Given the description of an element on the screen output the (x, y) to click on. 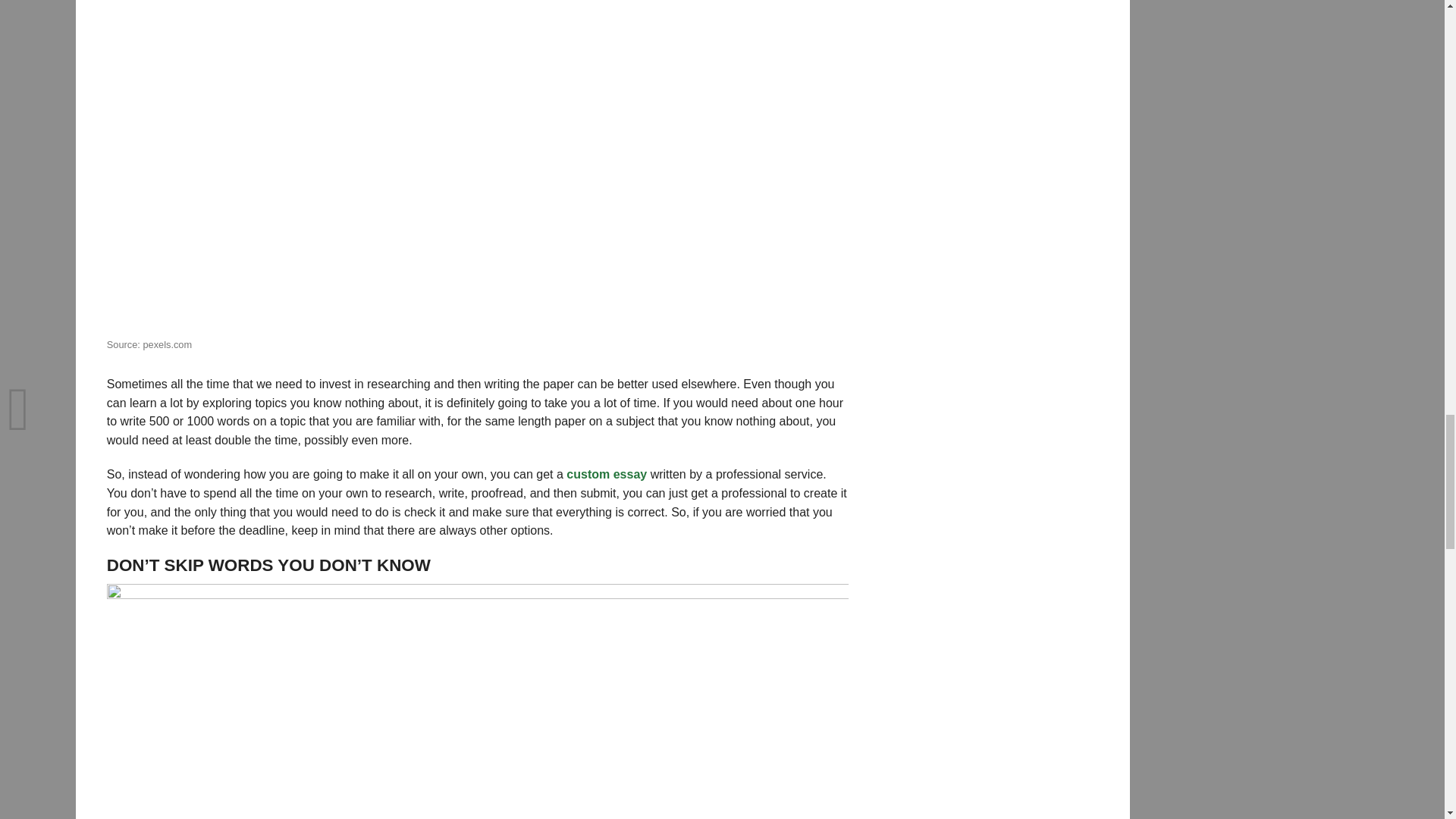
custom essay (606, 473)
